Given the description of an element on the screen output the (x, y) to click on. 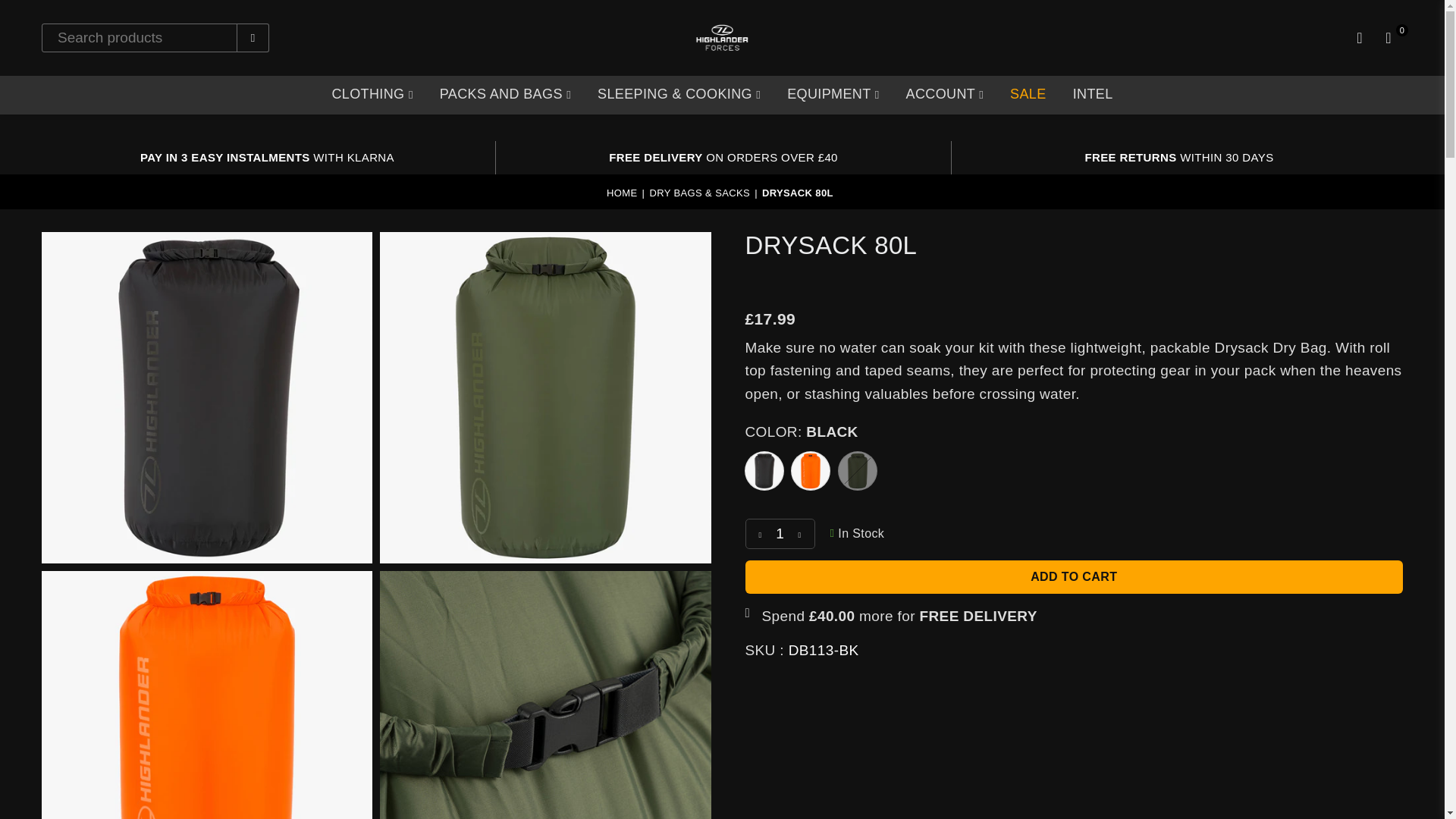
Facebook (49, 13)
Instagram (71, 13)
Highlander Forces on Facebook (49, 13)
0 (1388, 37)
Quantity (778, 533)
YouTube (94, 13)
Highlander Forces on Instagram (71, 13)
STOIRM-TACTICAL.COM (1329, 12)
CART (1388, 37)
SUBMIT (253, 33)
